Given the description of an element on the screen output the (x, y) to click on. 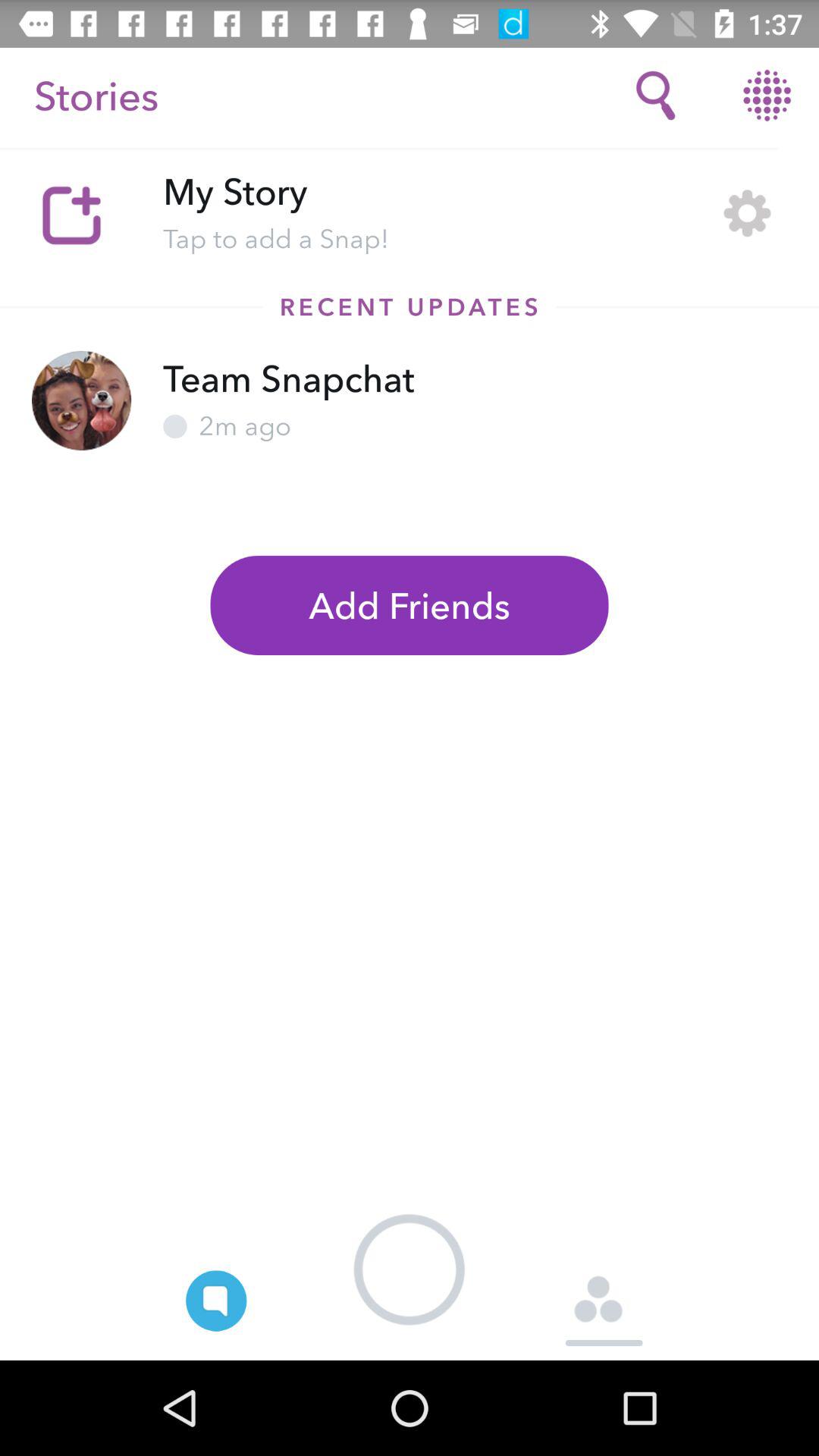
change story settings (747, 213)
